Given the description of an element on the screen output the (x, y) to click on. 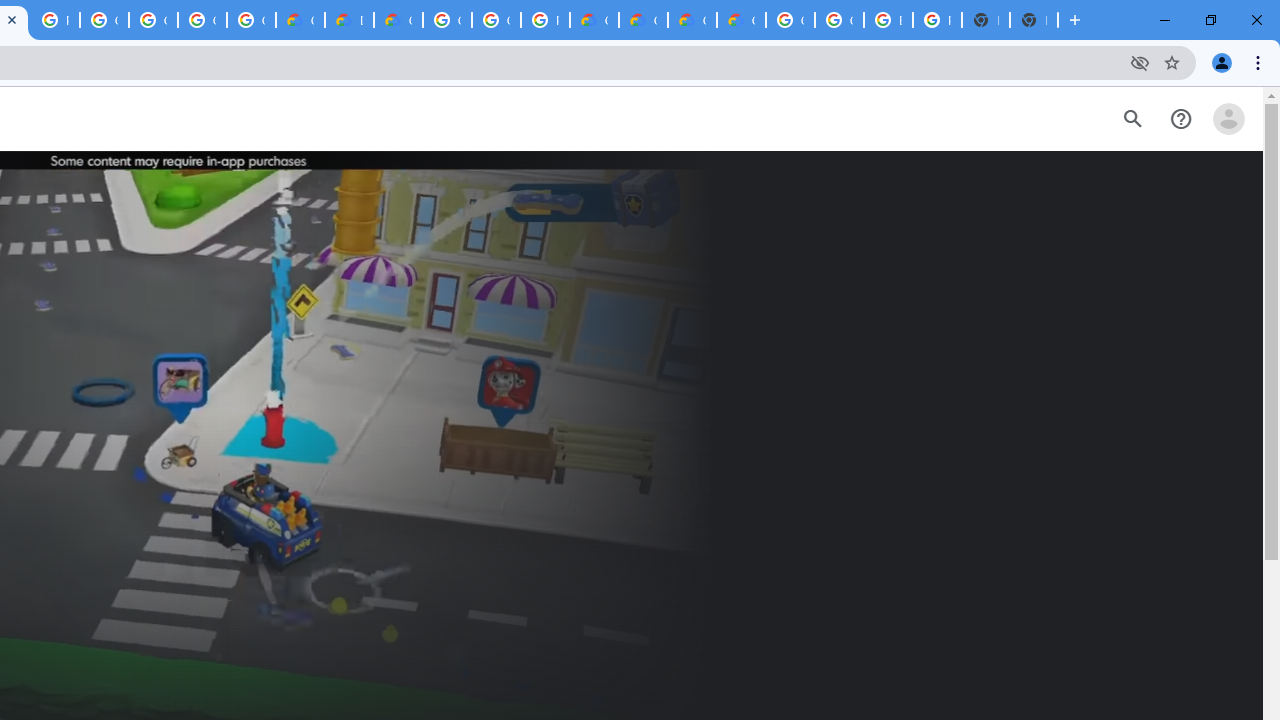
Search (1132, 119)
Help Center (1180, 119)
Google Cloud Pricing Calculator (643, 20)
Customer Care | Google Cloud (594, 20)
Gemini for Business and Developers | Google Cloud (398, 20)
Customer Care | Google Cloud (300, 20)
Google Cloud Pricing Calculator (692, 20)
